Given the description of an element on the screen output the (x, y) to click on. 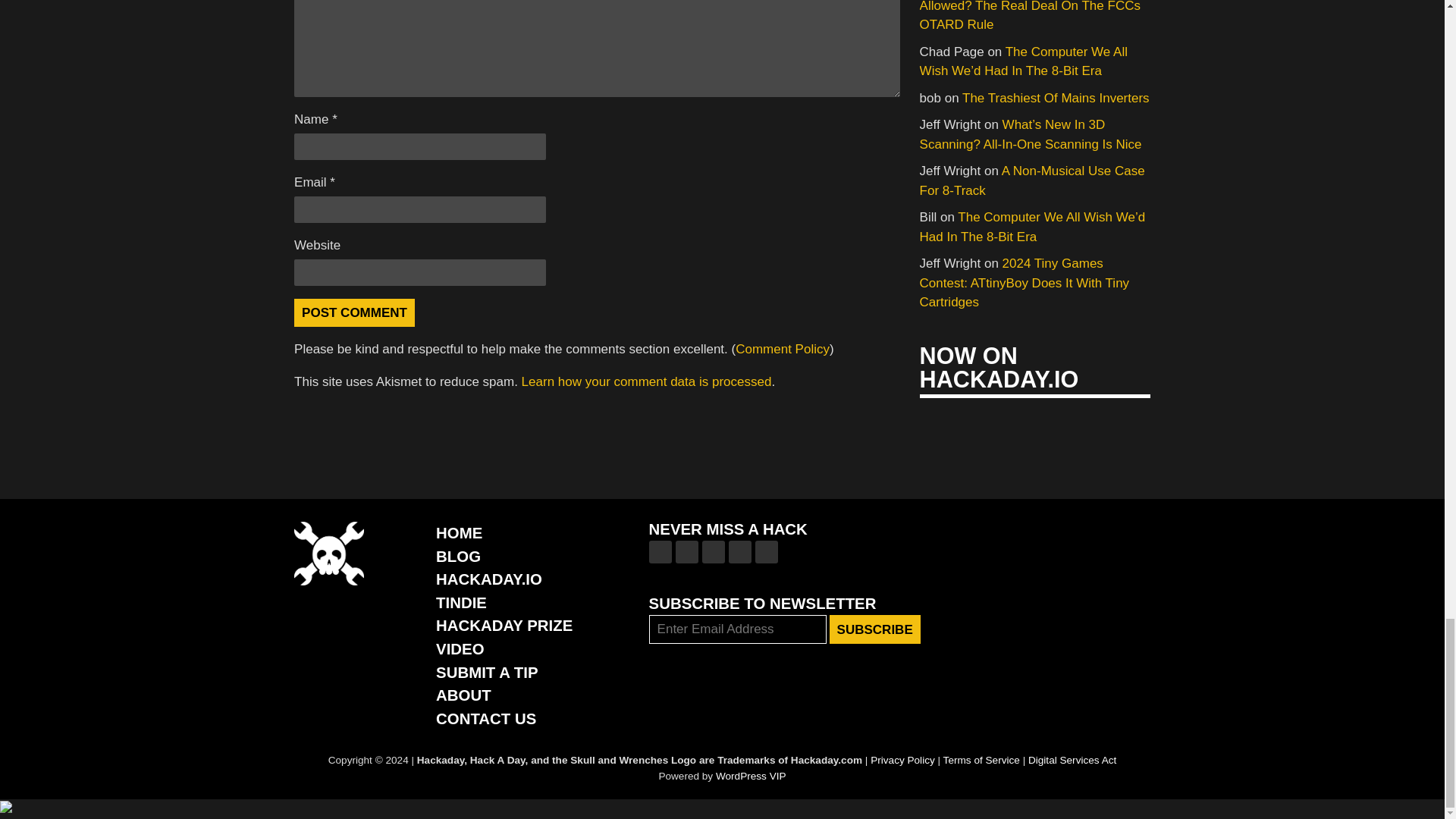
Subscribe (874, 629)
Post Comment (354, 312)
Build Something that Matters (503, 625)
